Given the description of an element on the screen output the (x, y) to click on. 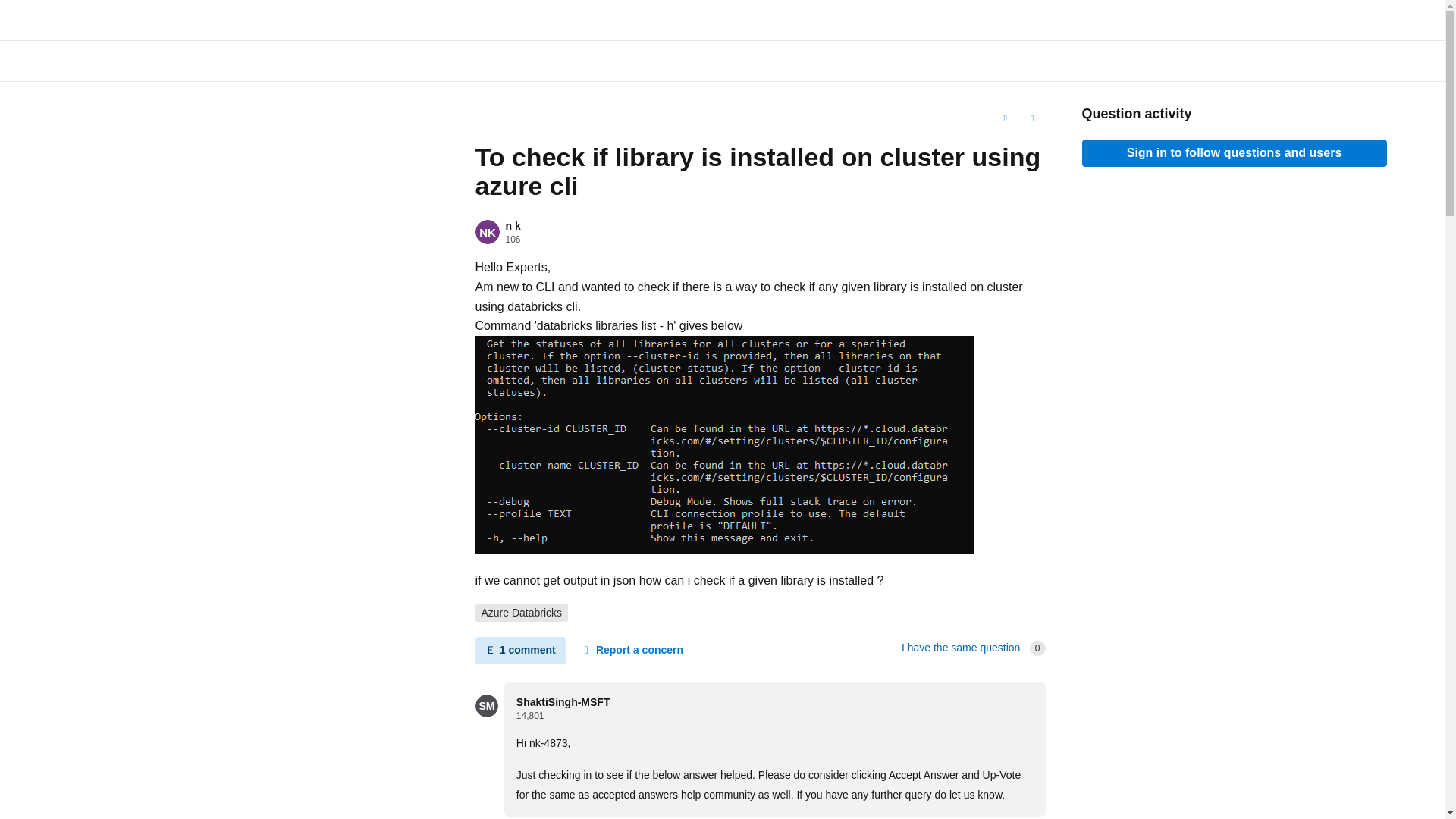
Add this question to a collection (1004, 118)
n k (512, 225)
Report a concern (632, 650)
I have the same question (960, 647)
ShaktiSingh-MSFT (563, 702)
You have the same or similar question (960, 647)
Reputation points (512, 239)
Share this question (1031, 118)
Hide comments for this question (519, 650)
